Given the description of an element on the screen output the (x, y) to click on. 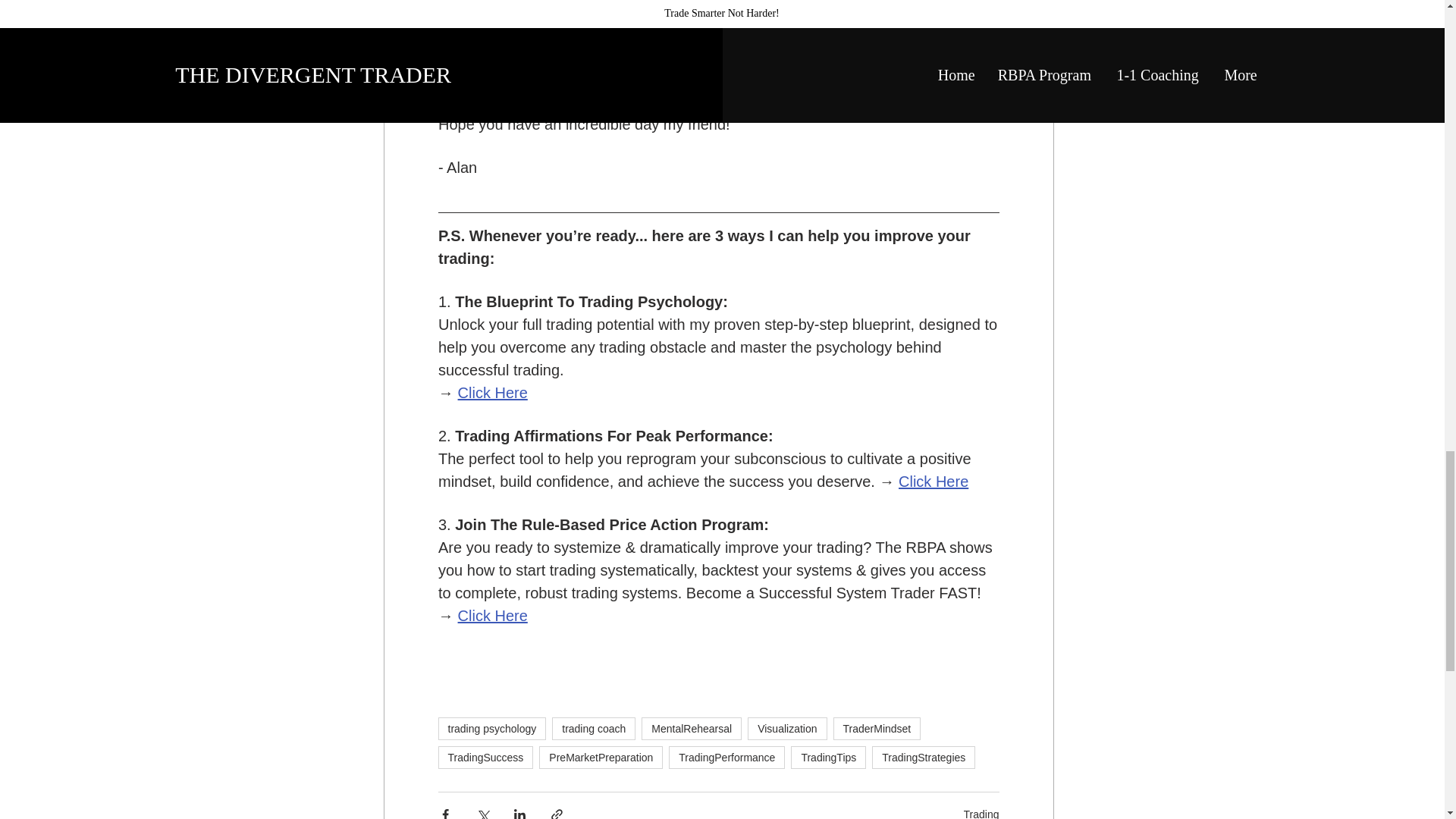
trading psychology (492, 728)
Click Here (492, 616)
MentalRehearsal (691, 728)
Click Here (492, 393)
TradingSuccess (486, 757)
Trading (980, 813)
Visualization (787, 728)
TradingPerformance (726, 757)
TradingTips (828, 757)
Click Here (933, 482)
